Given the description of an element on the screen output the (x, y) to click on. 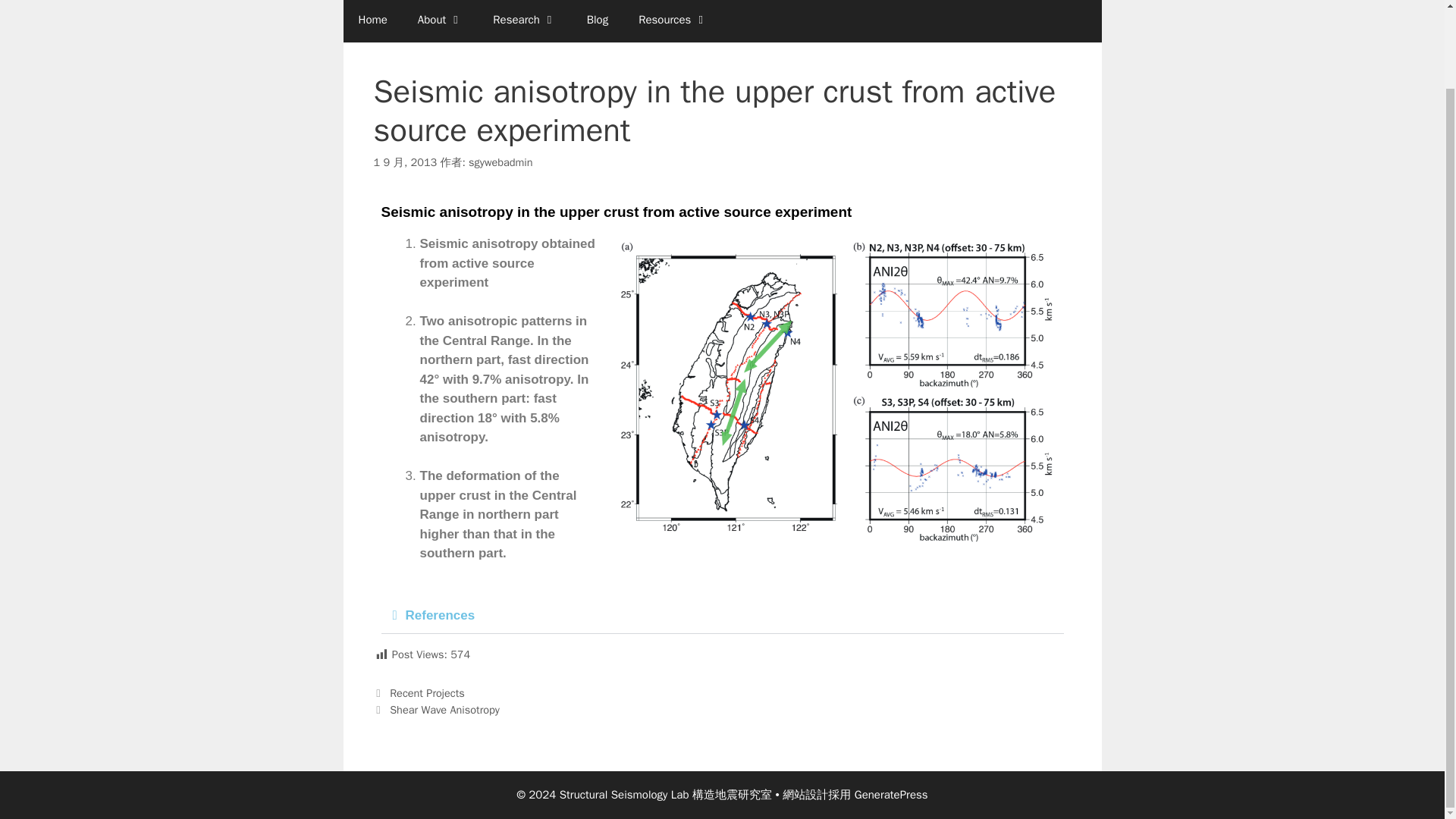
Blog (597, 21)
sgywebadmin (500, 161)
Resources (672, 21)
Shear Wave Anisotropy (444, 708)
Home (371, 21)
About (440, 21)
Research (523, 21)
Recent Projects (427, 693)
References (439, 615)
GeneratePress (891, 794)
